Given the description of an element on the screen output the (x, y) to click on. 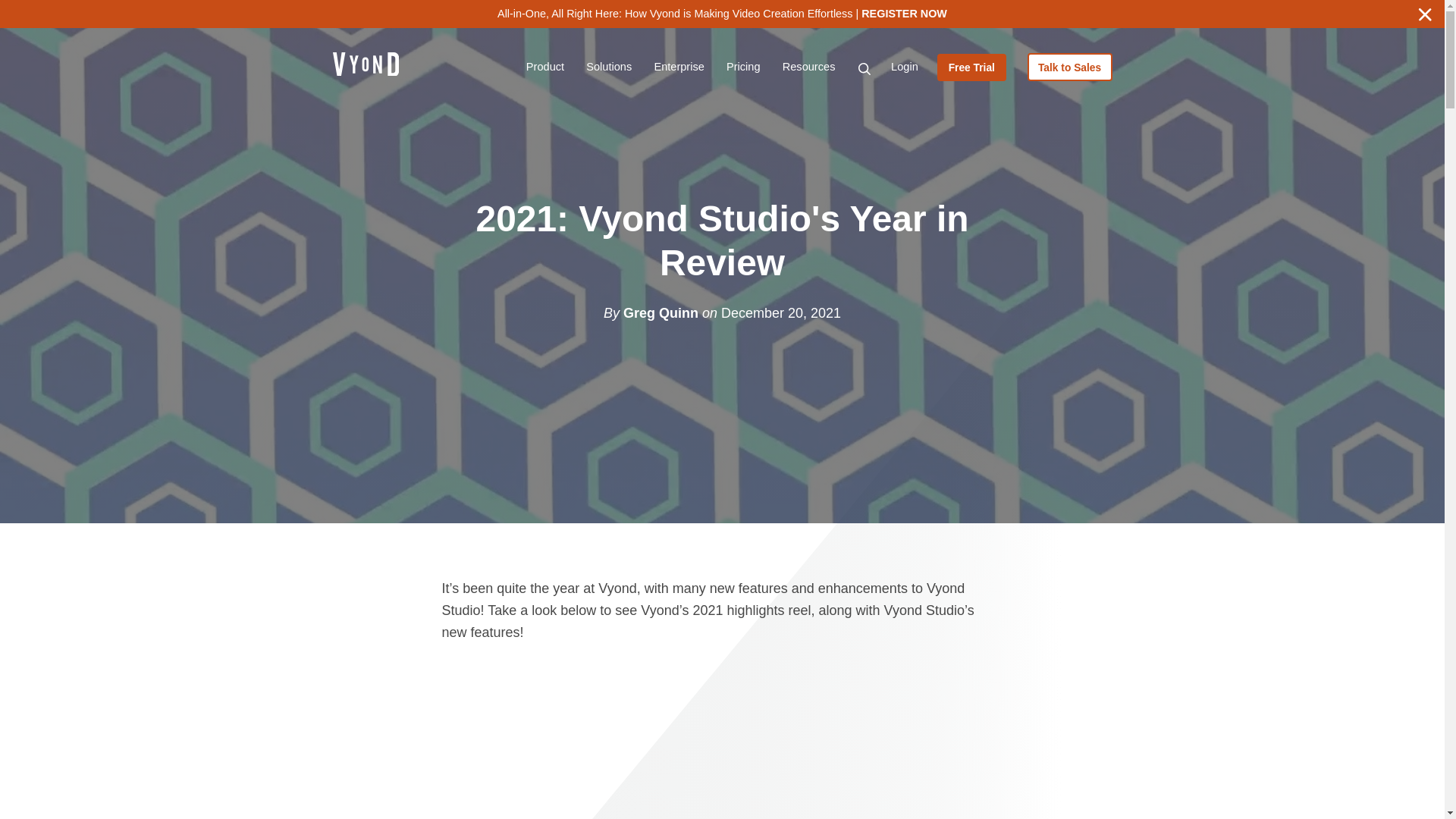
REGISTER NOW (904, 13)
Product (545, 66)
Solutions (609, 66)
